Given the description of an element on the screen output the (x, y) to click on. 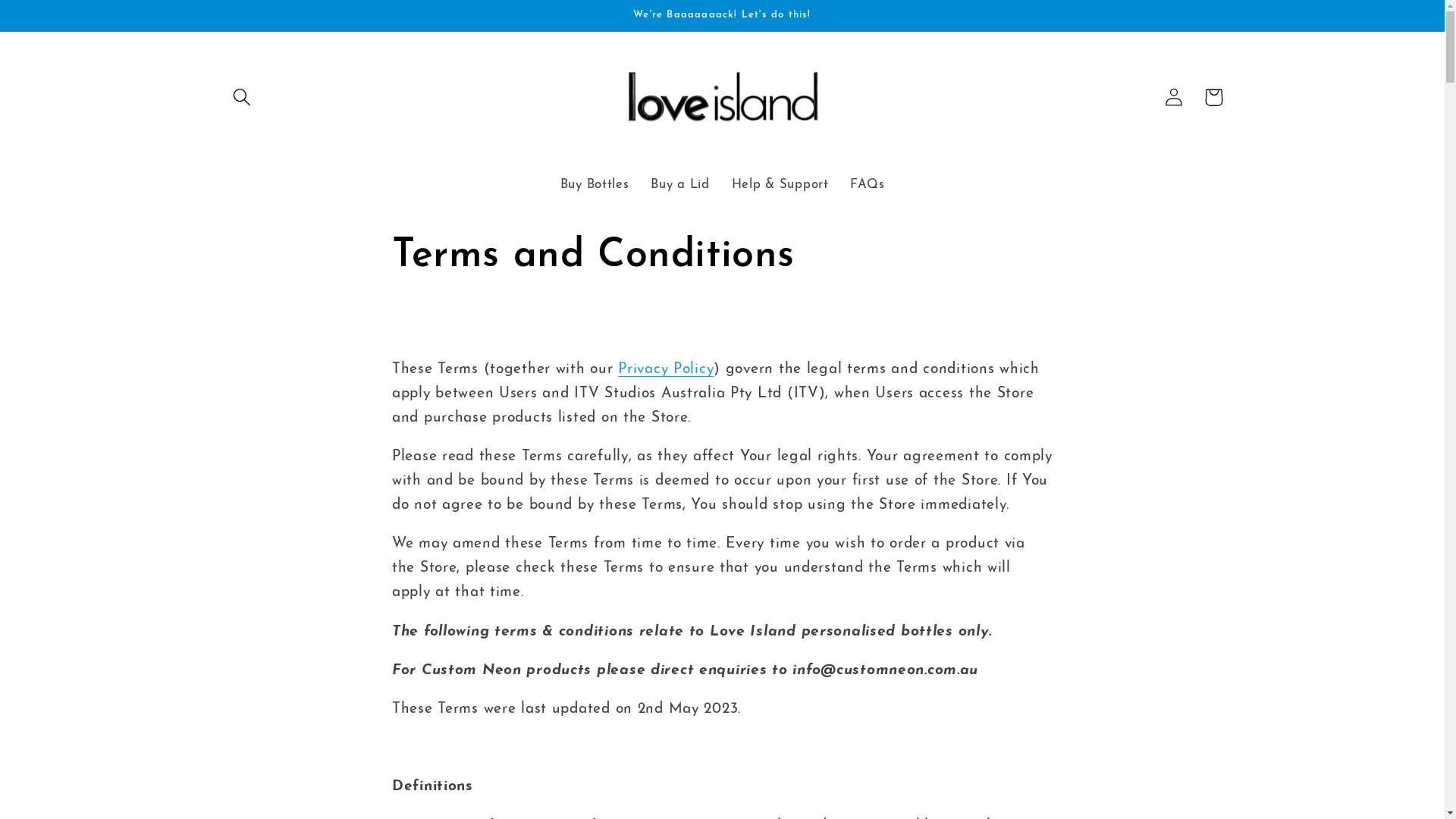
Buy a Lid Element type: text (680, 184)
Log in Element type: text (1173, 97)
Help & Support Element type: text (779, 184)
Privacy Policy Element type: text (665, 369)
FAQs Element type: text (867, 184)
Buy Bottles Element type: text (594, 184)
Cart Element type: text (1213, 97)
